Given the description of an element on the screen output the (x, y) to click on. 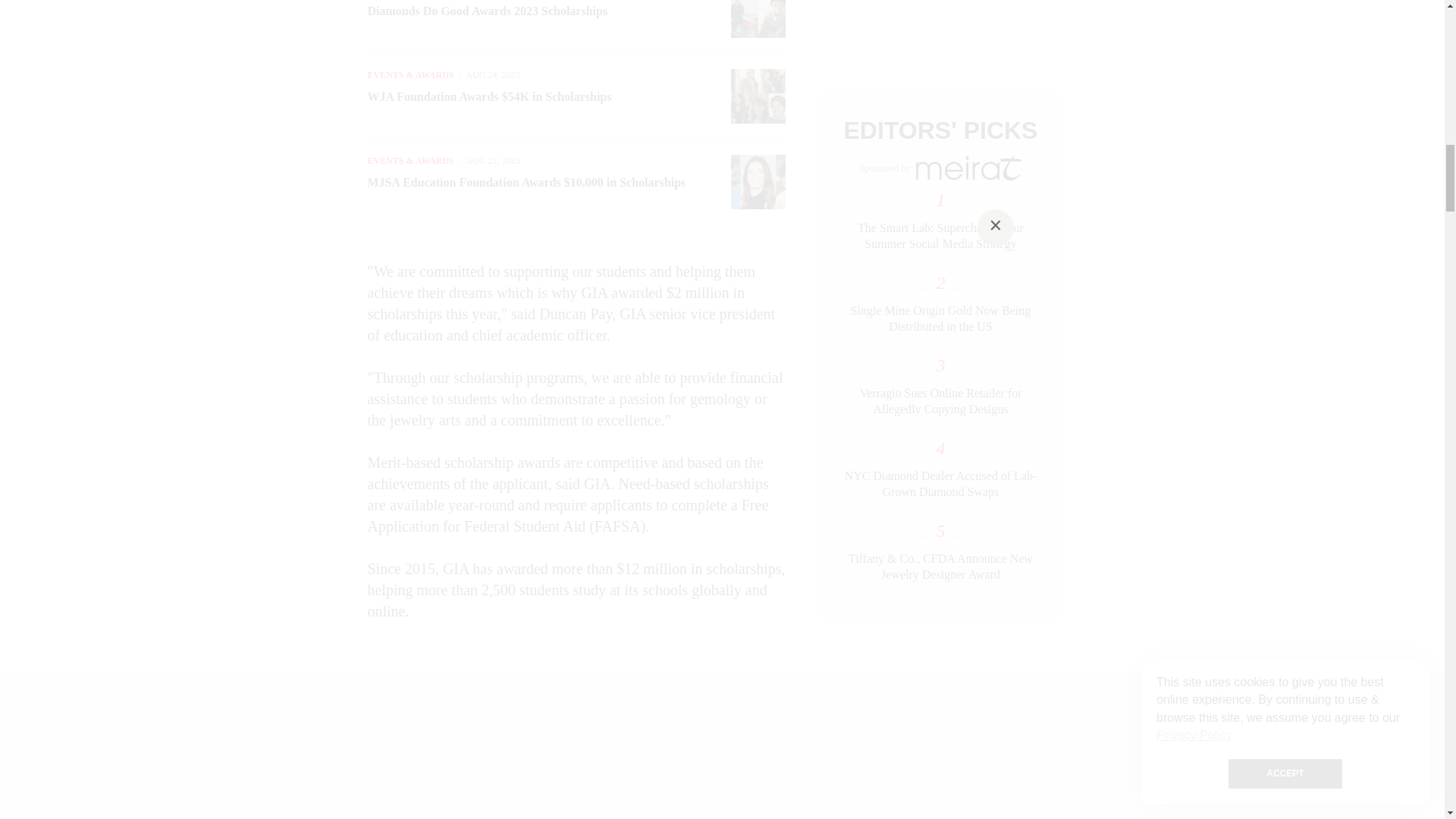
3rd party ad content (722, 755)
